Given the description of an element on the screen output the (x, y) to click on. 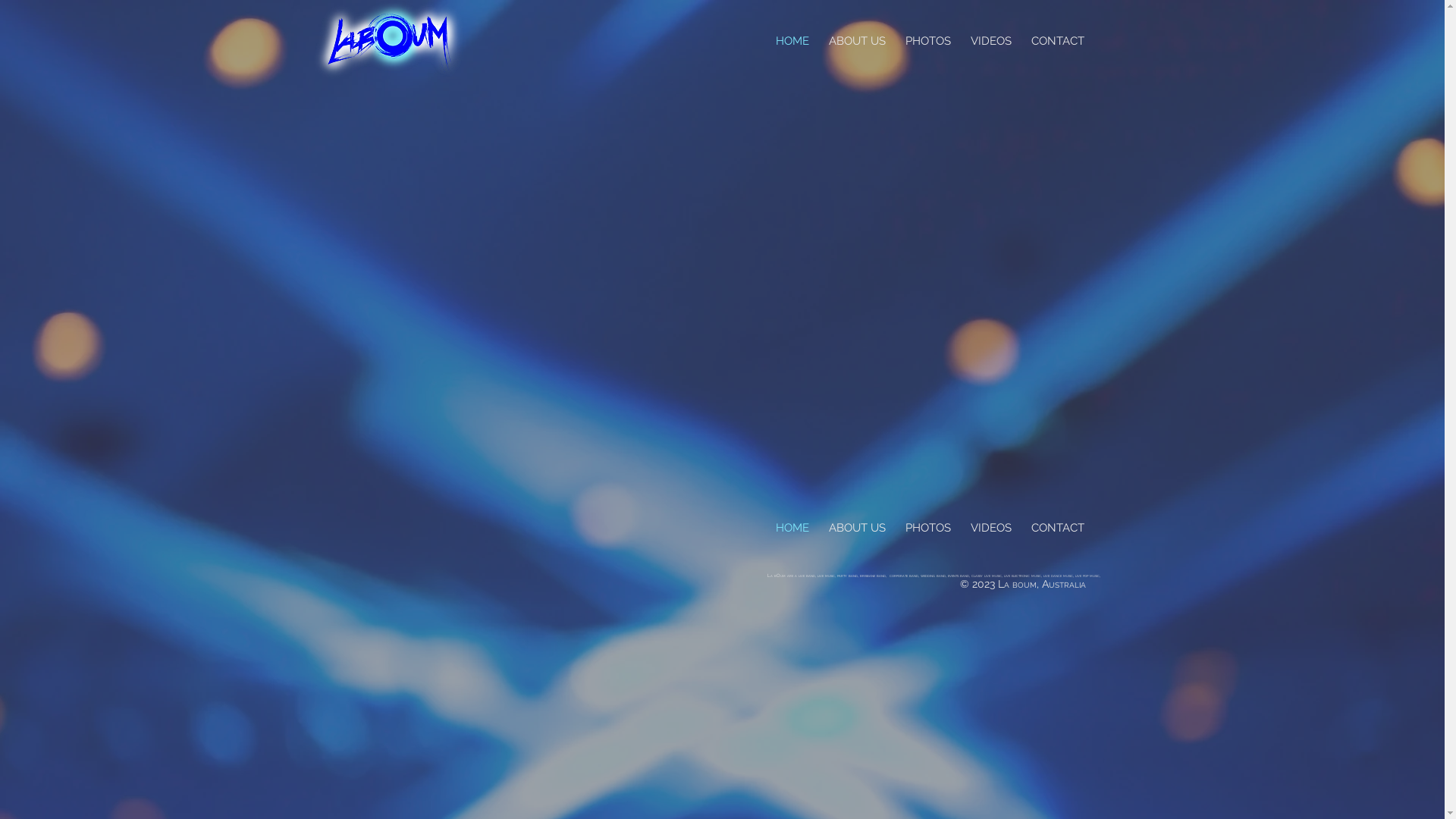
HOME Element type: text (792, 40)
VIDEOS Element type: text (990, 40)
ABOUT US Element type: text (857, 40)
HOME Element type: text (792, 527)
PHOTOS Element type: text (927, 527)
ABOUT US Element type: text (857, 527)
VIDEOS Element type: text (990, 527)
CONTACT Element type: text (1056, 40)
PHOTOS Element type: text (927, 40)
CONTACT Element type: text (1056, 527)
